Given the description of an element on the screen output the (x, y) to click on. 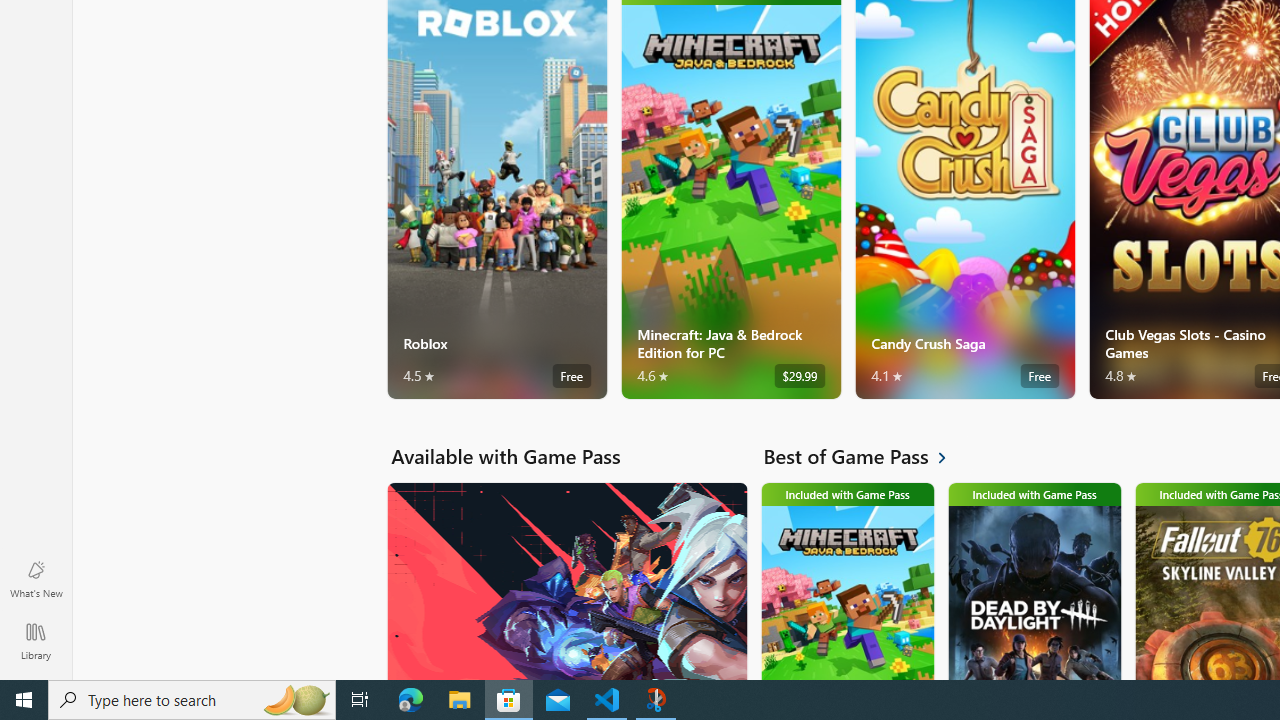
What's New (35, 578)
Available with Game Pass. VALORANT (566, 580)
Library (35, 640)
See all  Best of Game Pass (866, 455)
